Given the description of an element on the screen output the (x, y) to click on. 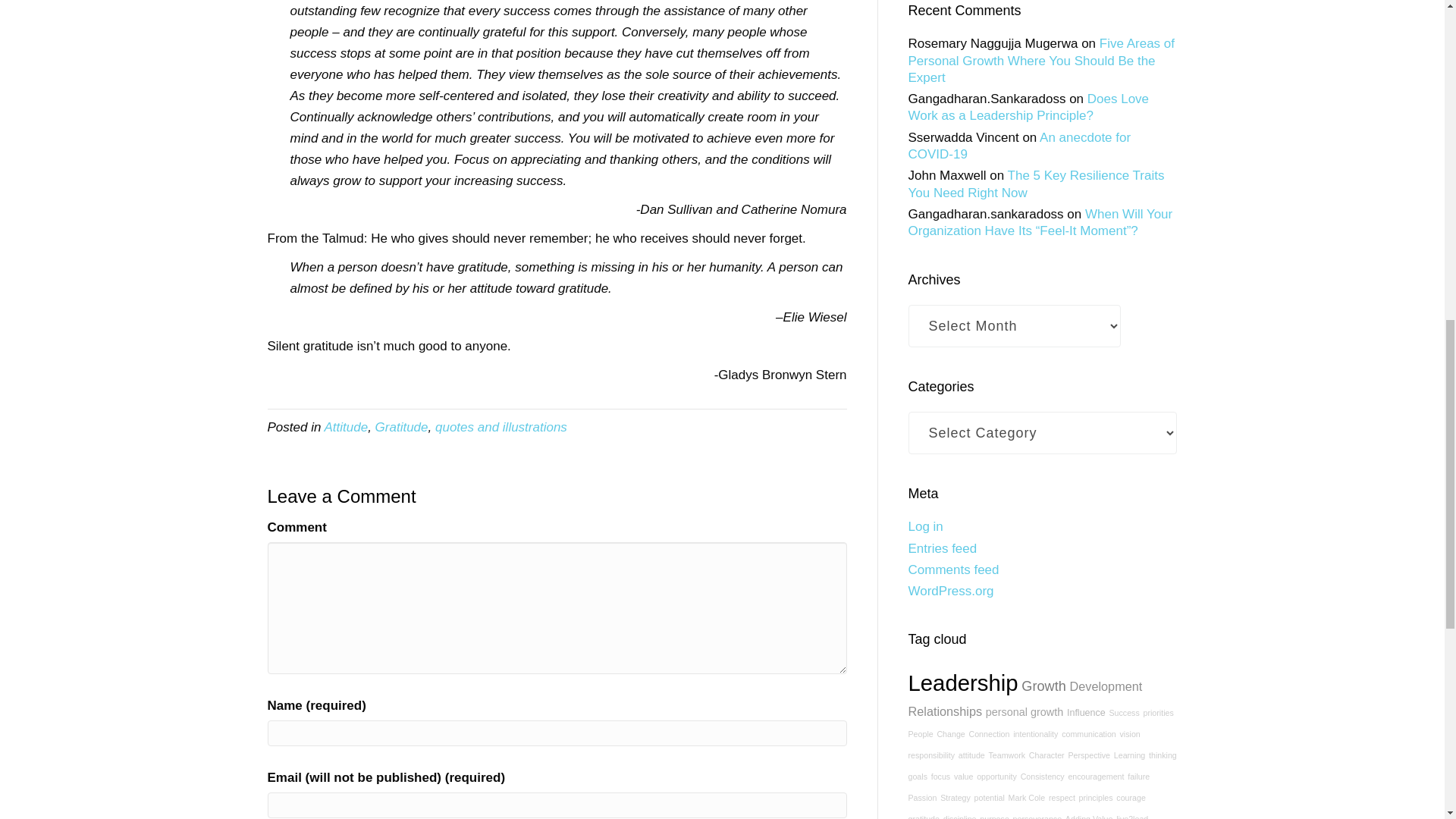
30 topics (1035, 733)
Leadership (962, 682)
74 topics (1086, 712)
Does Love Work as a Leadership Principle? (1029, 106)
An anecdote for COVID-19 (1019, 145)
47 topics (1123, 712)
Gratitude (401, 427)
Entries feed (942, 548)
quotes and illustrations (501, 427)
148 topics (1106, 685)
